Given the description of an element on the screen output the (x, y) to click on. 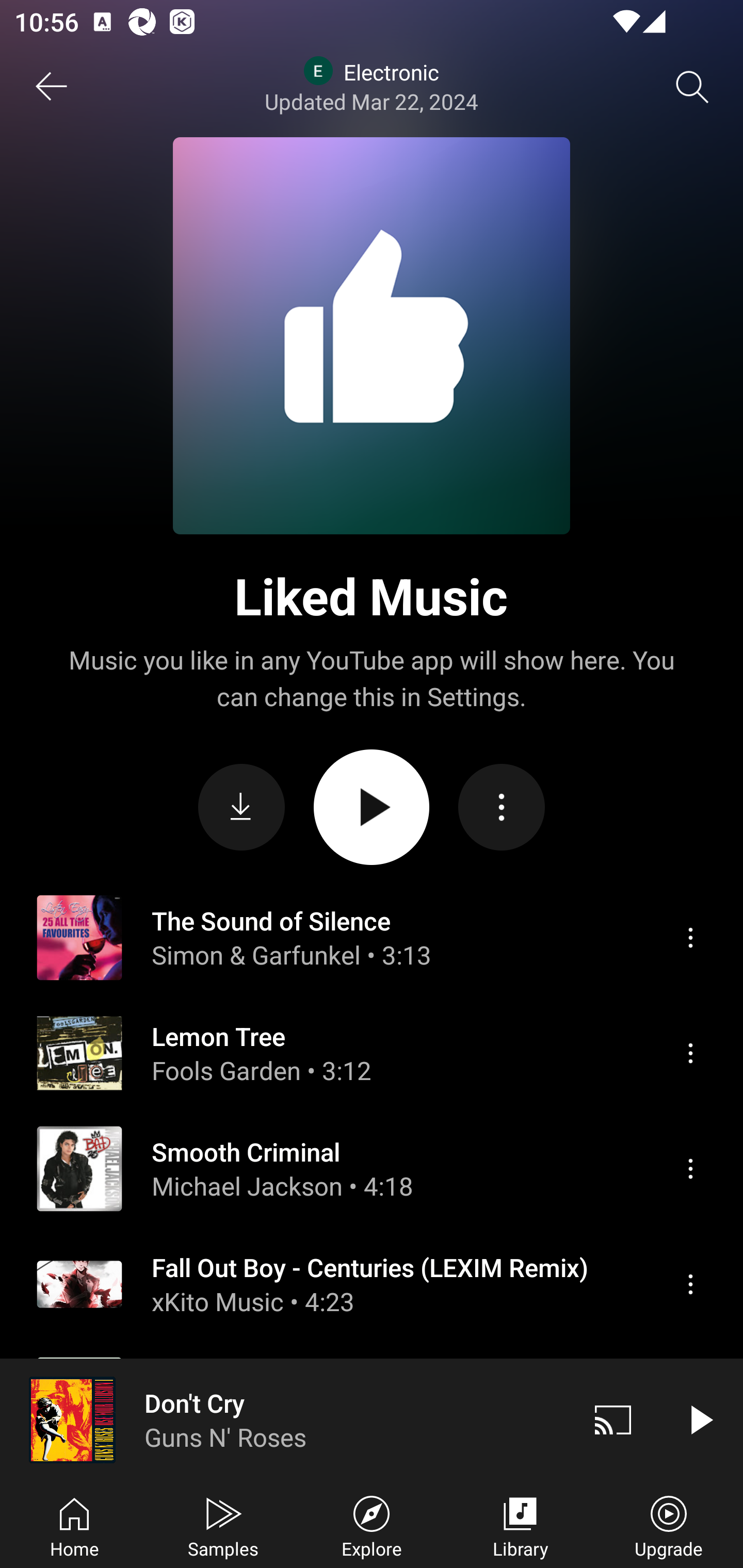
Back (50, 86)
Search (692, 86)
PLAY ALL (371, 807)
Download (241, 807)
Action menu (501, 807)
Menu (690, 937)
Menu (690, 1053)
Menu (690, 1168)
Menu (690, 1284)
Don't Cry Guns N' Roses (284, 1419)
Cast. Disconnected (612, 1419)
Play video (699, 1419)
Menu (690, 1479)
Home (74, 1524)
Samples (222, 1524)
Explore (371, 1524)
Upgrade (668, 1524)
